Given the description of an element on the screen output the (x, y) to click on. 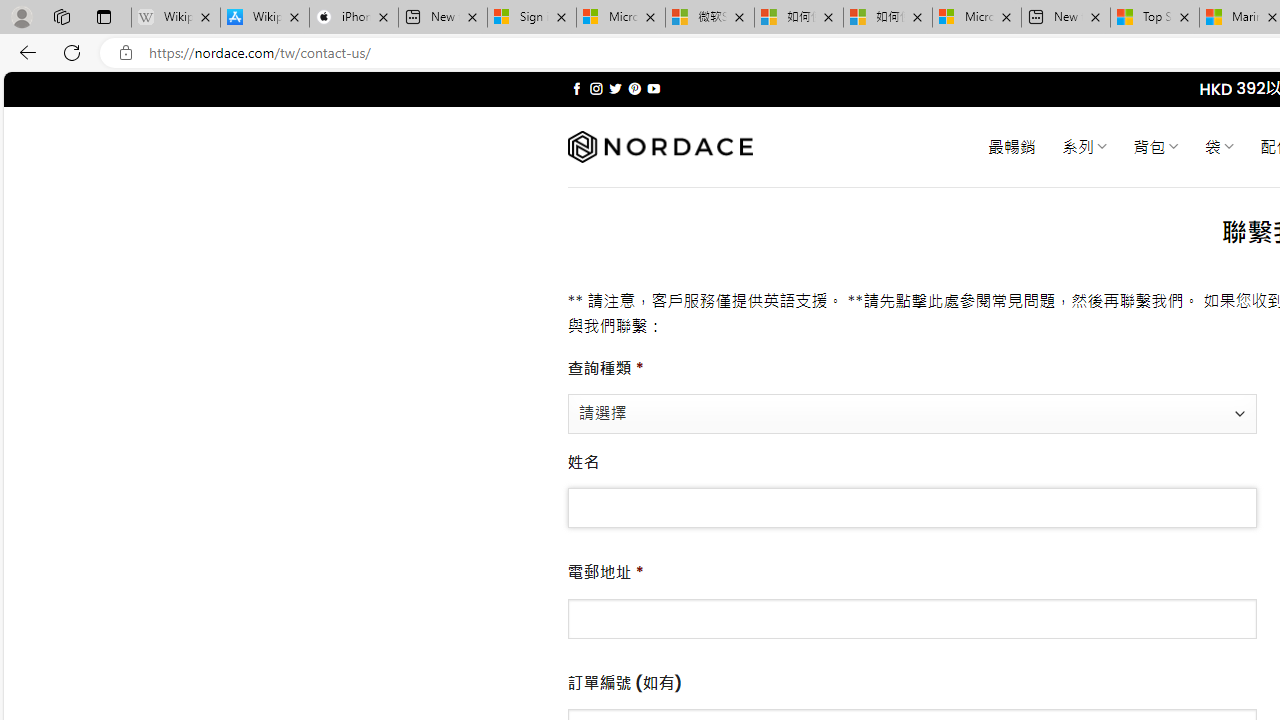
Microsoft account | Account Checkup (977, 17)
Follow on Facebook (576, 88)
Sign in to your Microsoft account (531, 17)
Follow on Instagram (596, 88)
